Given the description of an element on the screen output the (x, y) to click on. 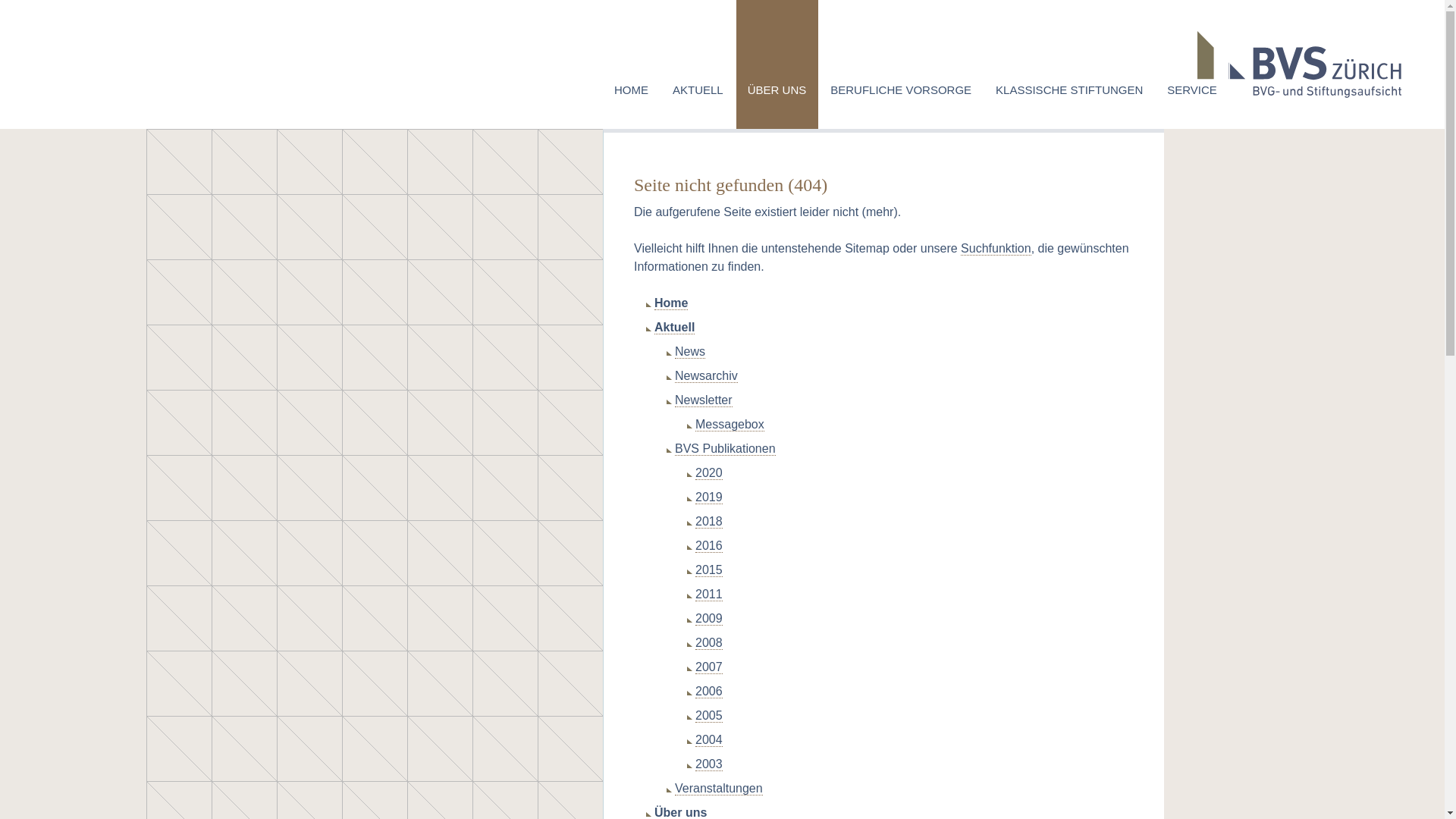
News Element type: text (689, 351)
2009 Element type: text (708, 618)
KLASSISCHE STIFTUNGEN Element type: text (1069, 64)
2003 Element type: text (708, 764)
Aktuell Element type: text (674, 327)
2008 Element type: text (708, 642)
2016 Element type: text (708, 545)
Newsarchiv Element type: text (705, 375)
2011 Element type: text (708, 594)
SERVICE Element type: text (1192, 64)
BERUFLICHE VORSORGE Element type: text (901, 64)
2020 Element type: text (708, 473)
BVS Publikationen Element type: text (724, 448)
2004 Element type: text (708, 739)
AKTUELL Element type: text (698, 64)
2007 Element type: text (708, 667)
2006 Element type: text (708, 691)
HOME Element type: text (631, 64)
Veranstaltungen Element type: text (718, 788)
2005 Element type: text (708, 715)
2015 Element type: text (708, 570)
Suchfunktion Element type: text (995, 248)
Messagebox Element type: text (729, 424)
2019 Element type: text (708, 497)
Newsletter Element type: text (703, 400)
Home Element type: text (670, 303)
2018 Element type: text (708, 521)
